Given the description of an element on the screen output the (x, y) to click on. 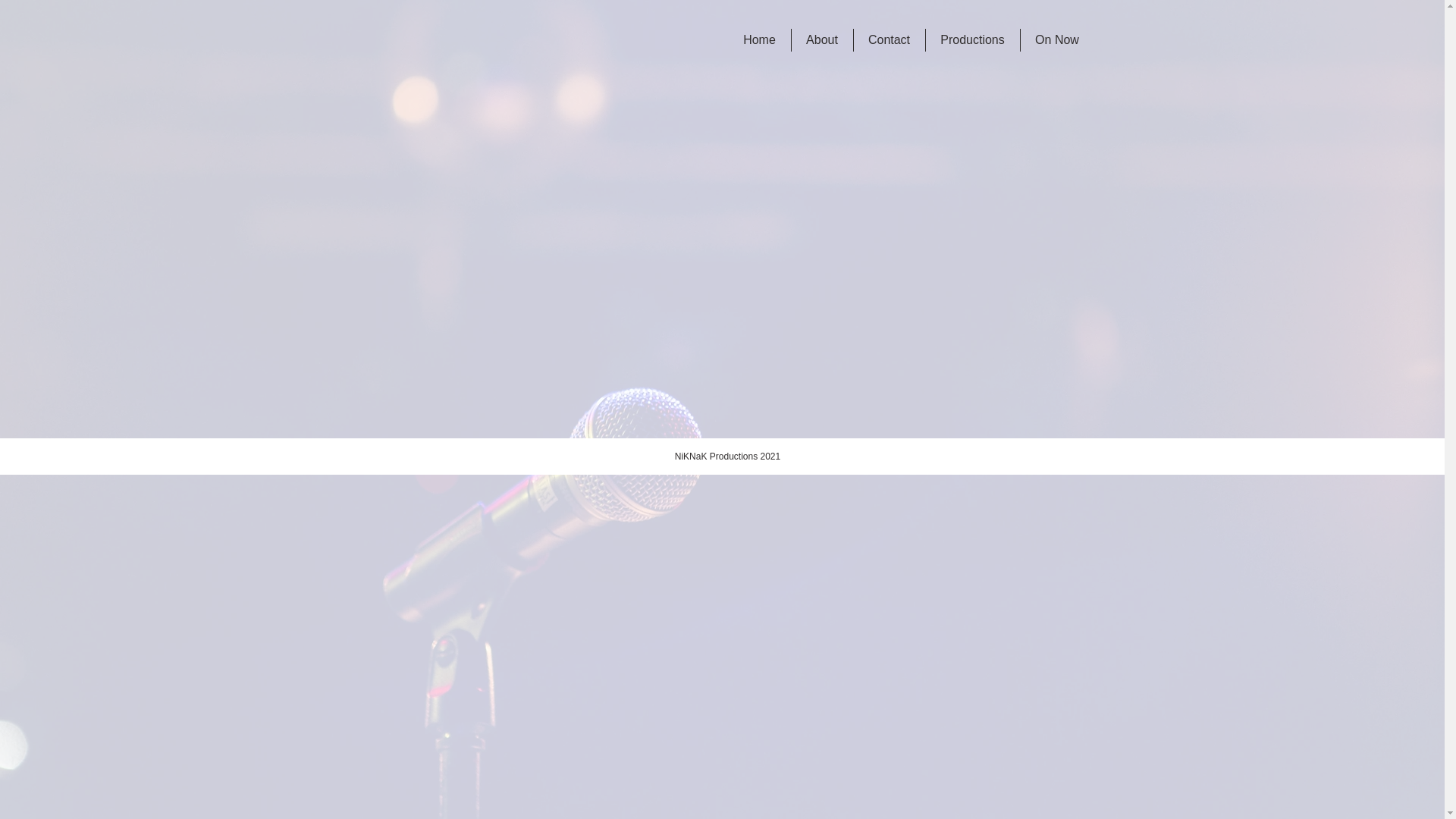
Contact Element type: text (889, 39)
About Element type: text (822, 39)
Home Element type: text (759, 39)
Productions Element type: text (972, 39)
On Now Element type: text (1057, 39)
